Given the description of an element on the screen output the (x, y) to click on. 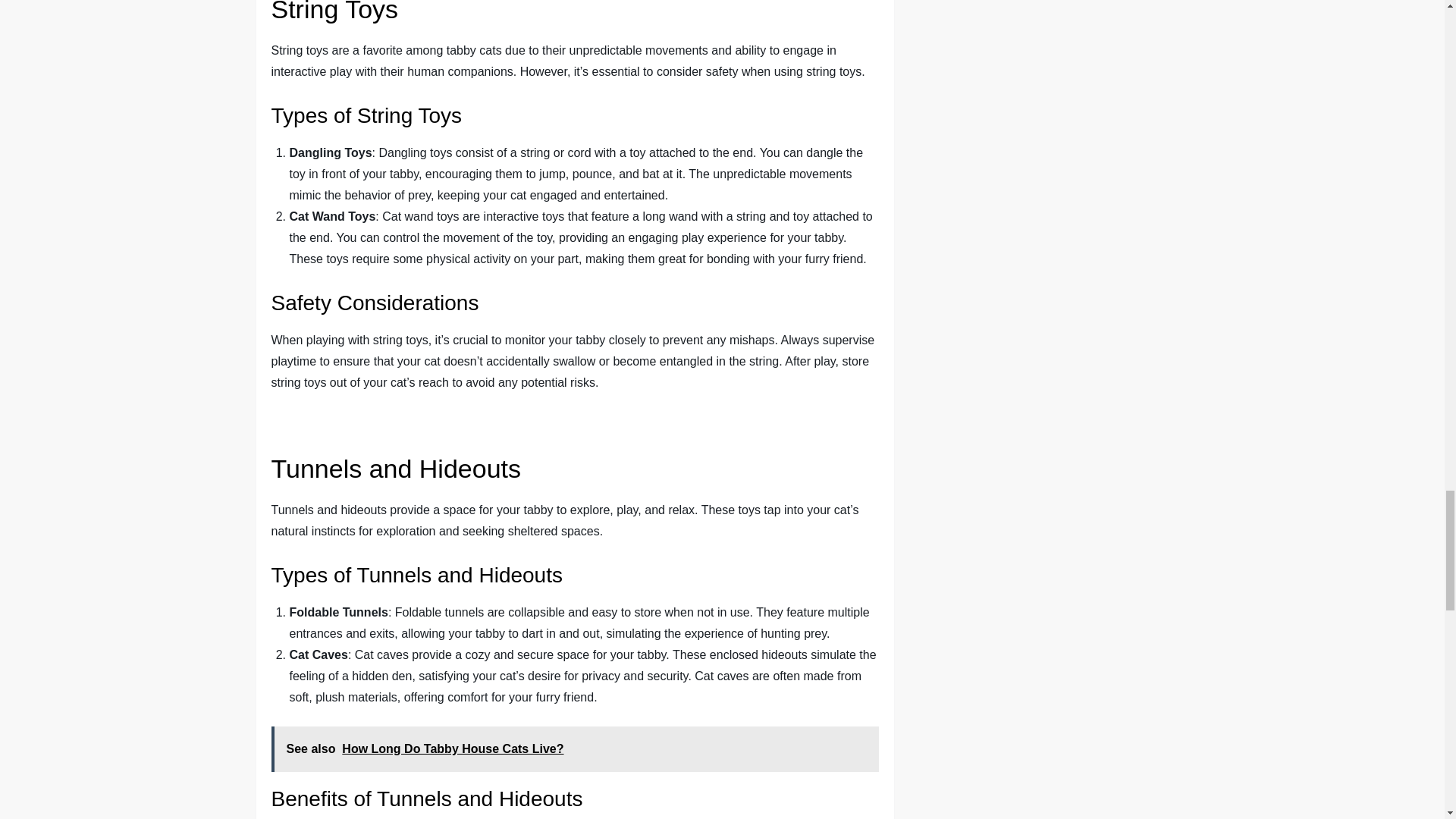
See also  How Long Do Tabby House Cats Live? (574, 749)
